Given the description of an element on the screen output the (x, y) to click on. 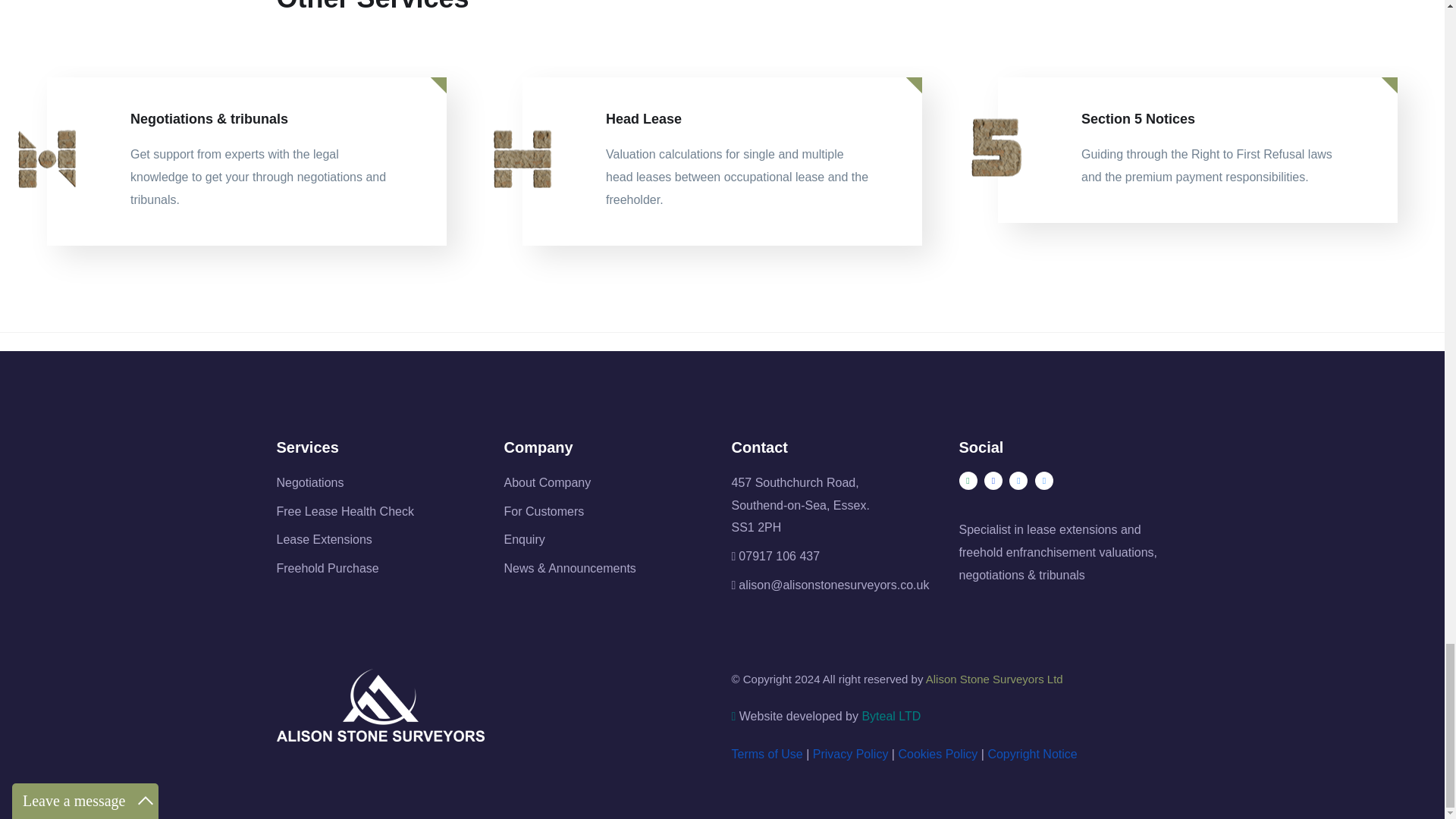
Byteal LTD (890, 716)
